Given the description of an element on the screen output the (x, y) to click on. 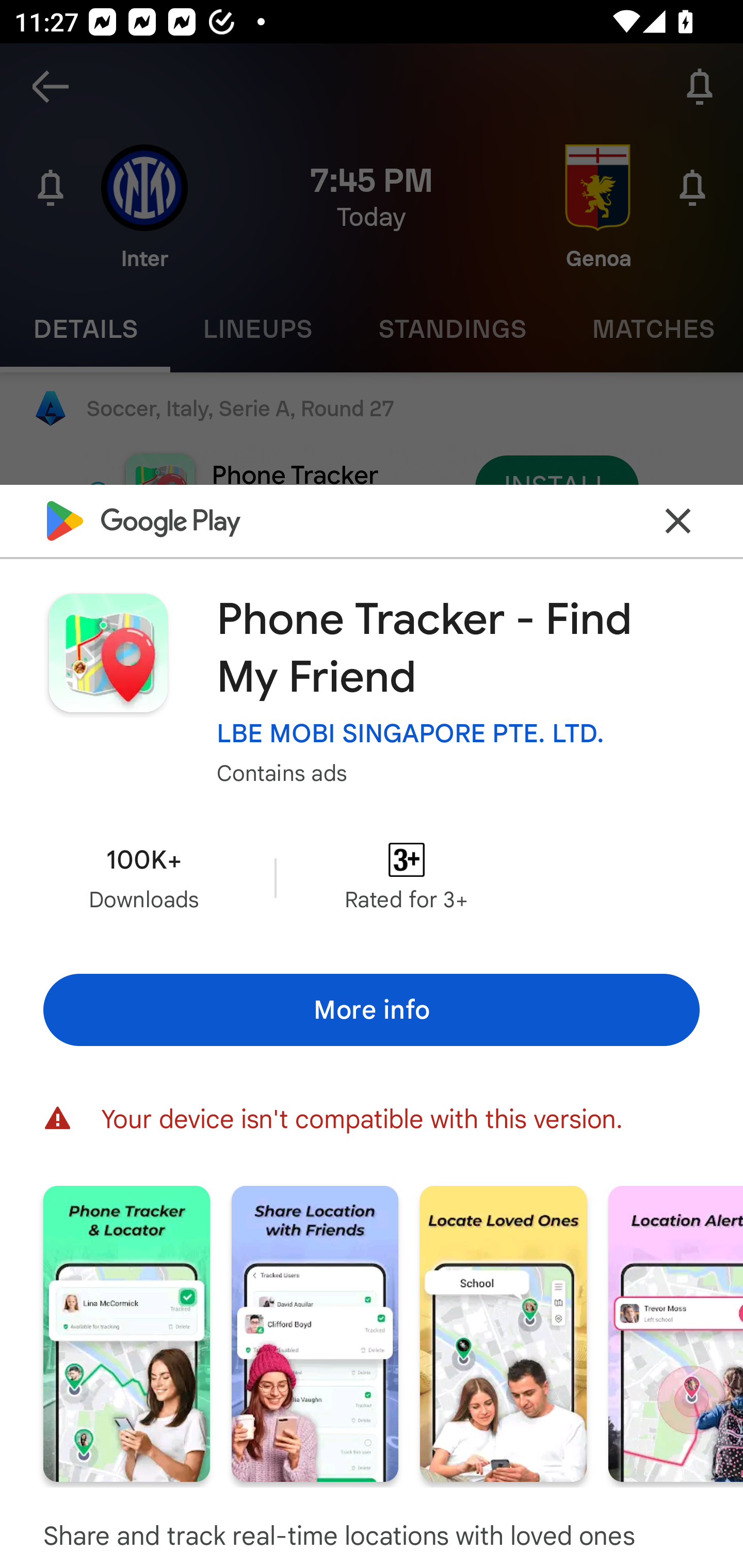
Close (677, 520)
LBE MOBI SINGAPORE PTE. LTD. (410, 732)
More info (371, 1009)
Screenshot "1" of "5" (126, 1333)
Screenshot "2" of "5" (314, 1333)
Screenshot "3" of "5" (502, 1333)
